Given the description of an element on the screen output the (x, y) to click on. 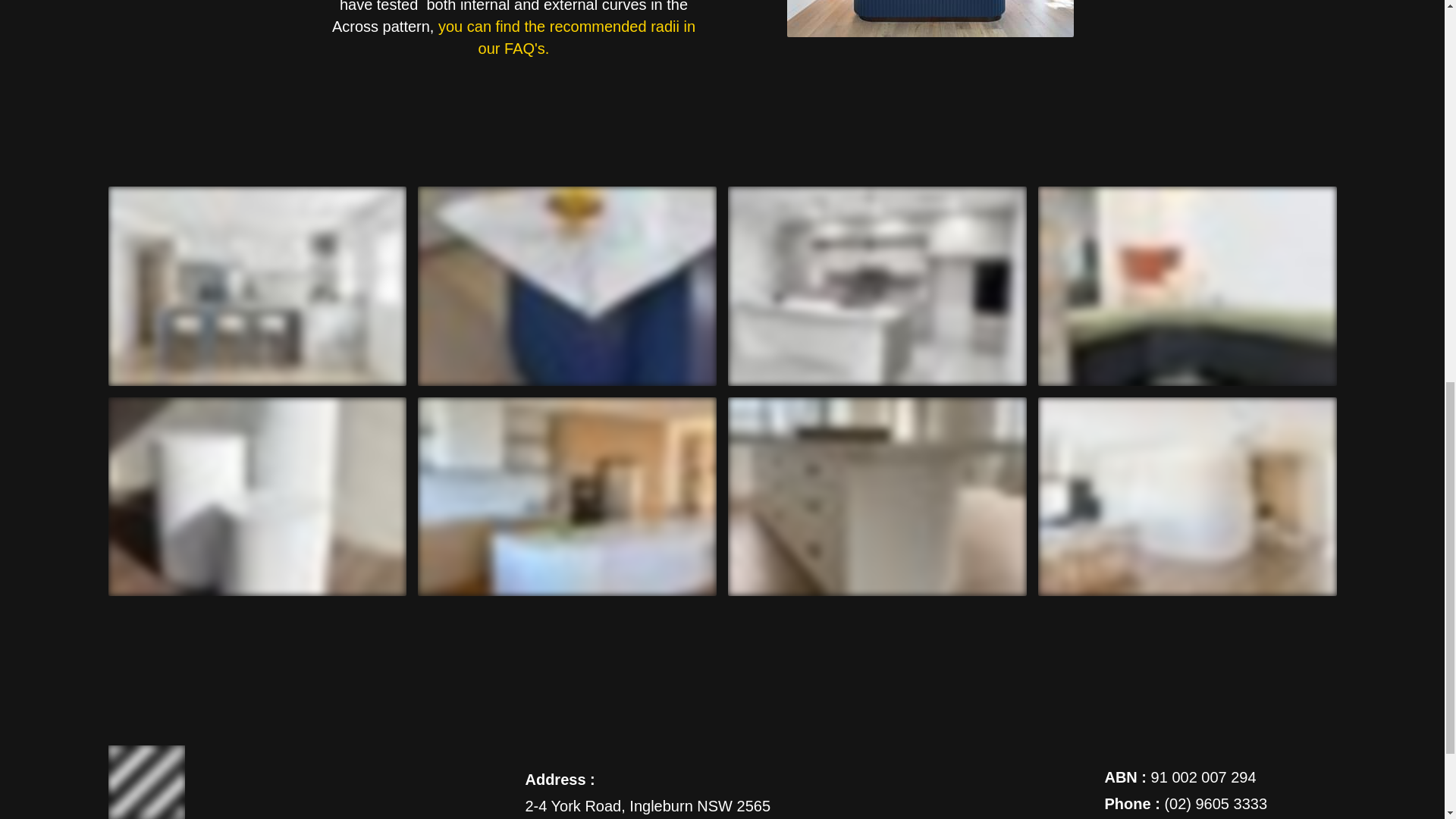
you can find the recommended radii in our FAQ's. (566, 37)
